Given the description of an element on the screen output the (x, y) to click on. 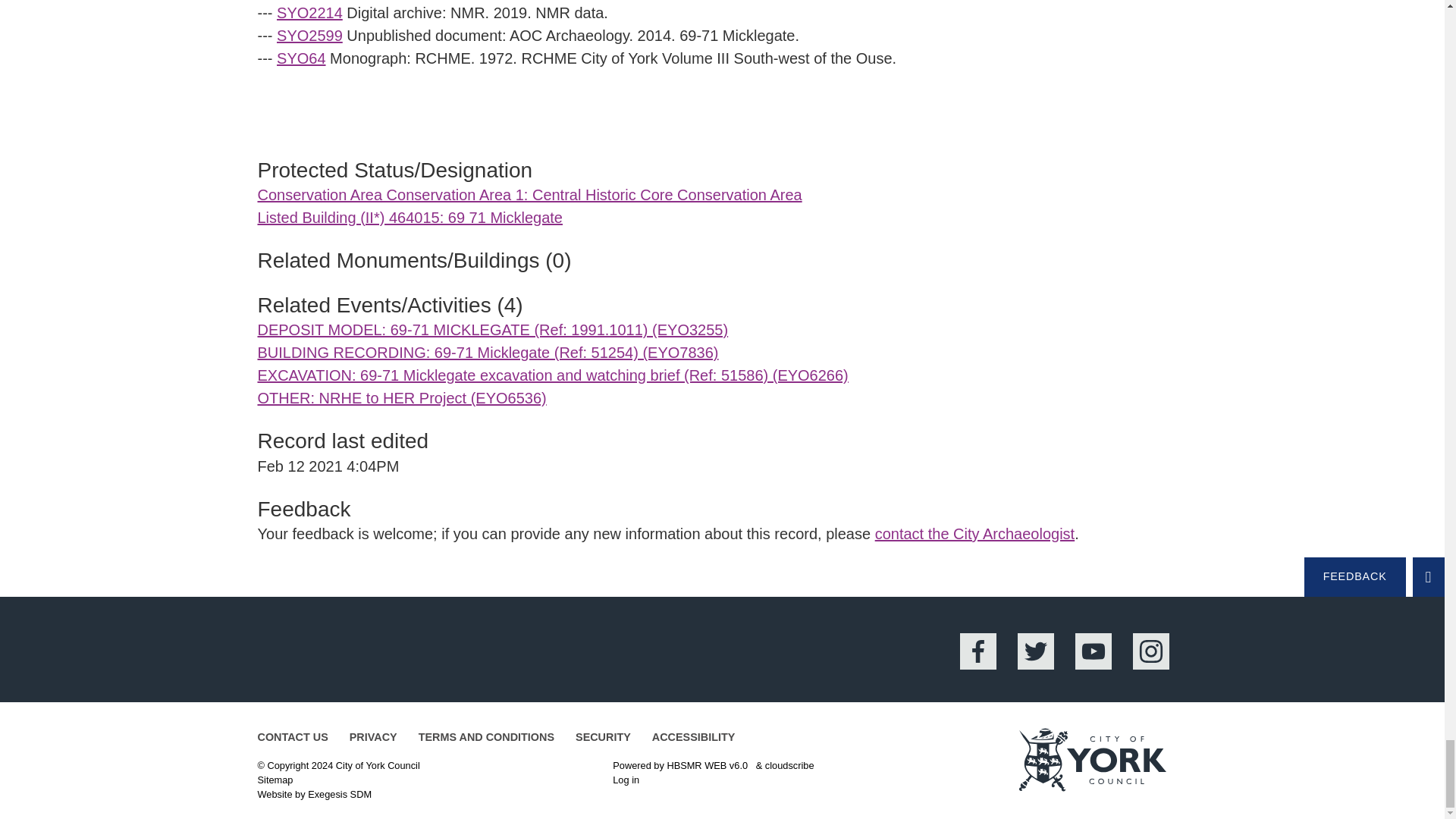
Instagram (1150, 651)
Twitter (1035, 651)
YouTube (1093, 651)
send feedback on this record (974, 533)
Facebook (977, 651)
